Given the description of an element on the screen output the (x, y) to click on. 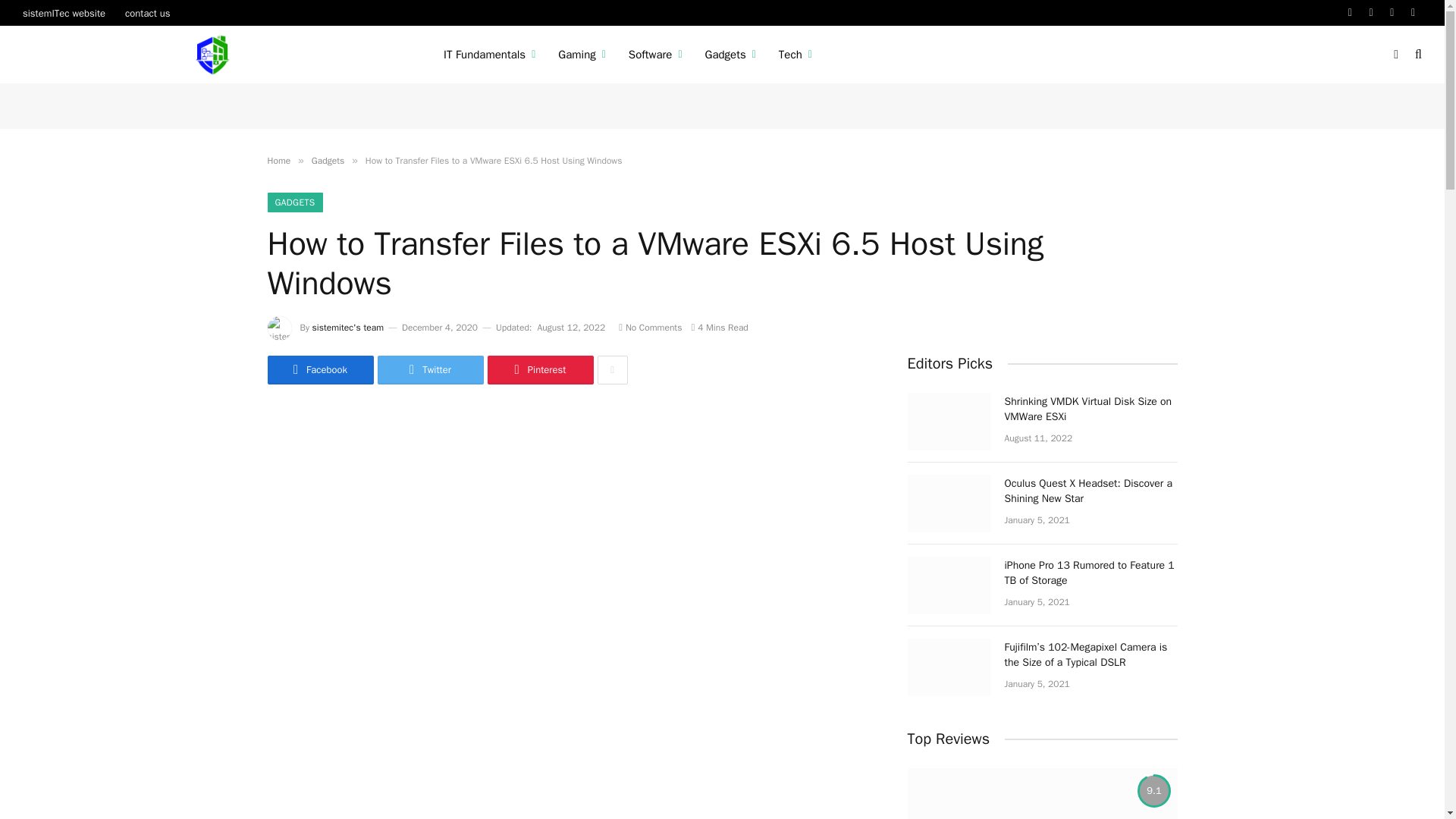
Software (655, 54)
IT Fundamentals (489, 54)
sistemITec website (64, 12)
blog sistemITec (214, 54)
Gaming (582, 54)
contact us (147, 12)
